Given the description of an element on the screen output the (x, y) to click on. 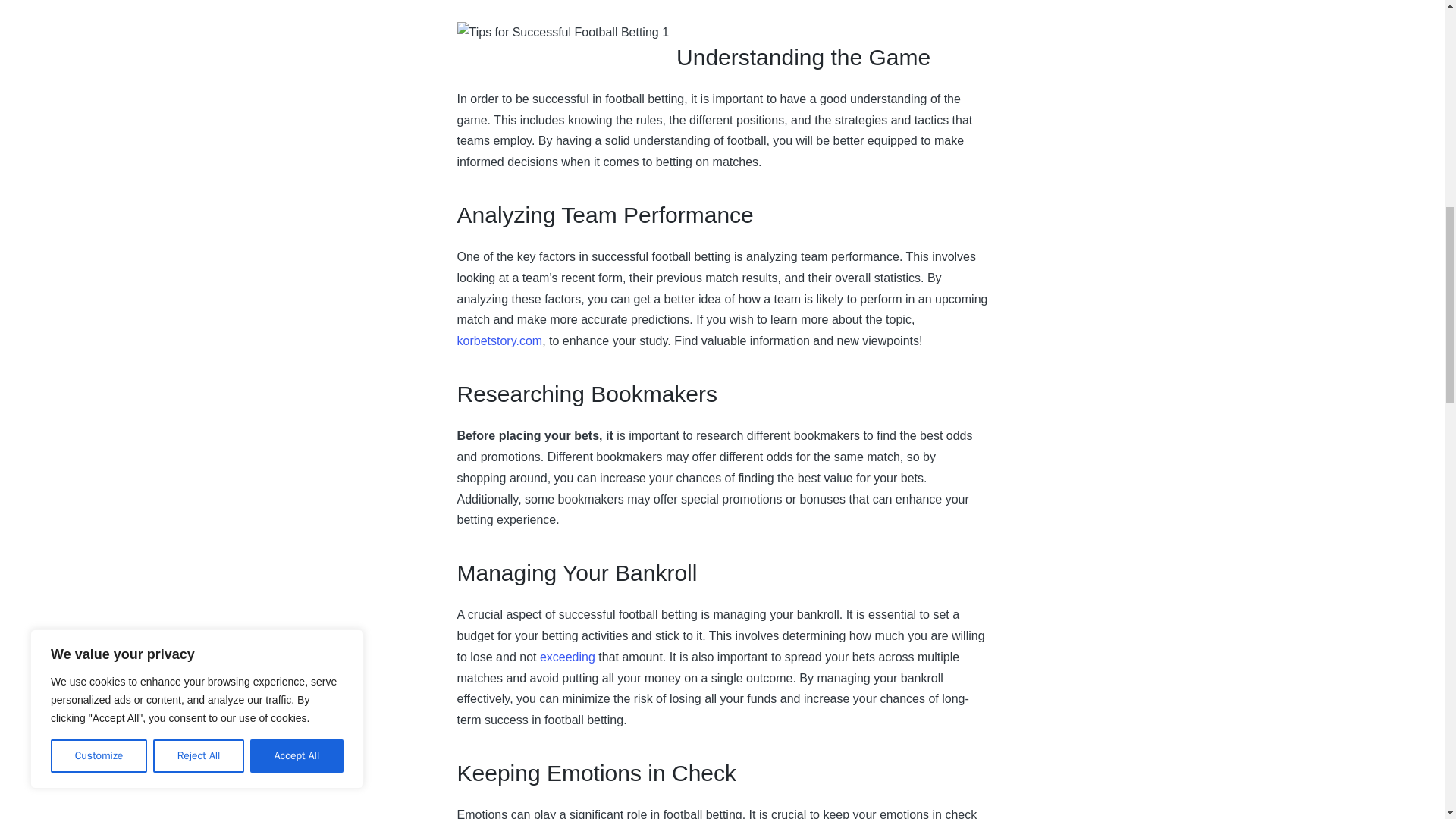
korbetstory.com (499, 340)
exceeding (567, 656)
